Given the description of an element on the screen output the (x, y) to click on. 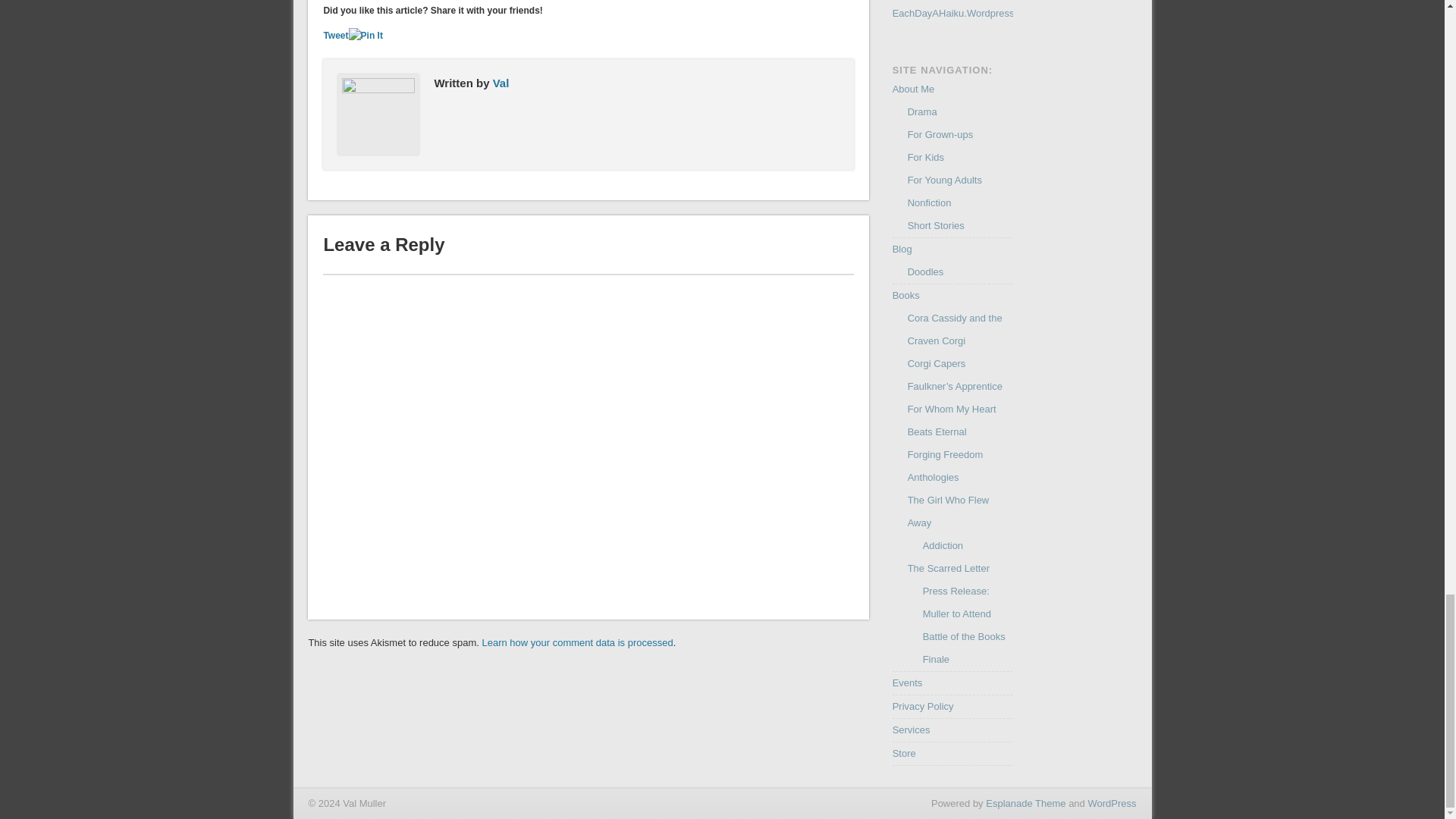
Pin It (365, 35)
Learn how your comment data is processed (576, 642)
Esplanade Theme (1025, 803)
Posts by Val (501, 82)
Val (501, 82)
Tweet (335, 35)
